Given the description of an element on the screen output the (x, y) to click on. 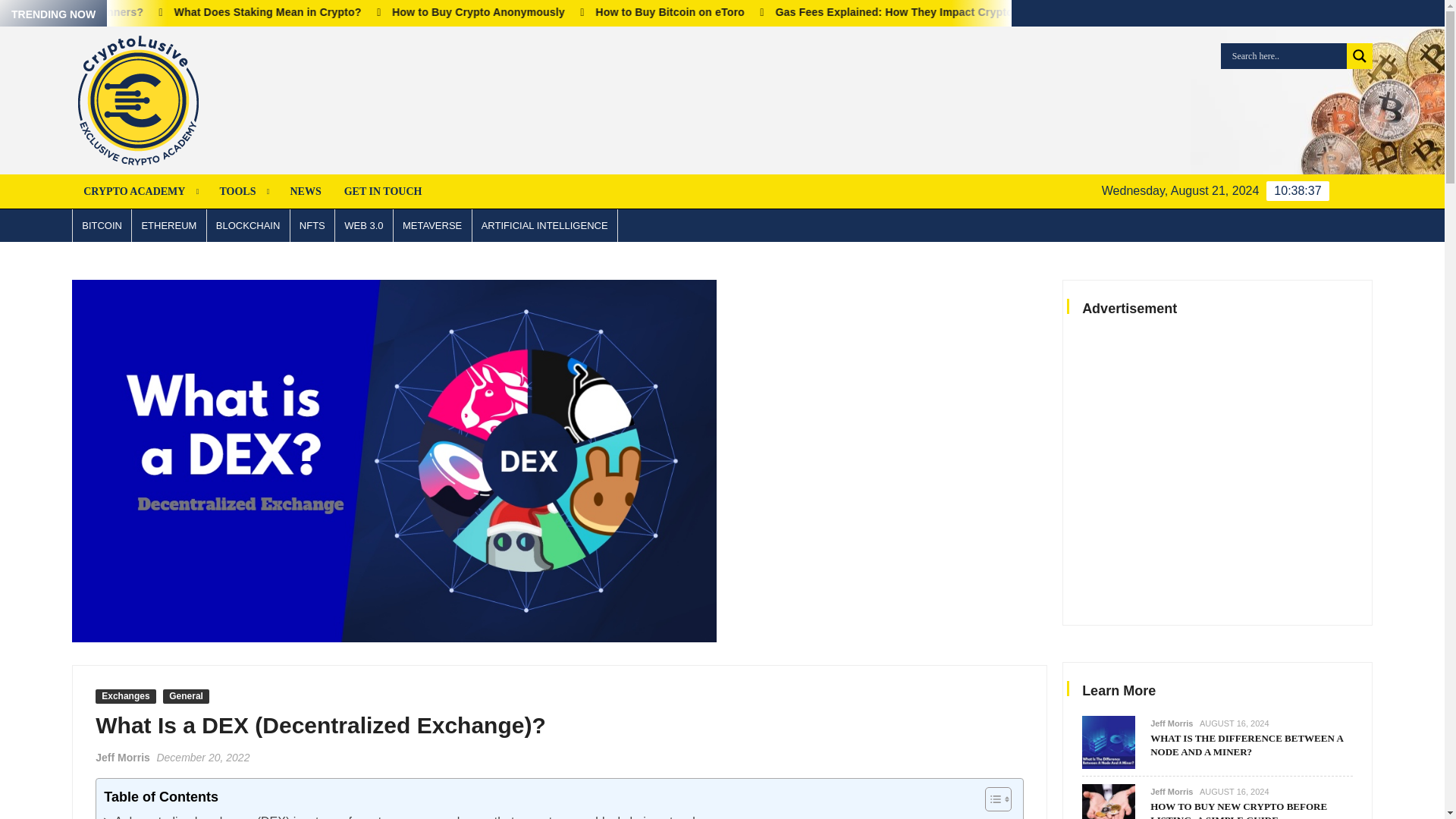
How to Buy Bitcoin on eToro (953, 11)
Which Cryptocurrency is Best for Beginners? (244, 11)
What Does Staking Mean in Crypto? (557, 11)
What is the Difference between a Node and a Miner? (50, 11)
Which Cryptocurrency is Best for Beginners? (317, 11)
How to Buy Bitcoin on eToro (880, 11)
How to Buy Crypto Anonymously (691, 11)
Gas Fees Explained: How They Impact Crypto Transactions (1137, 11)
What is the Difference between a Node and a Miner? (85, 11)
What Does Staking Mean in Crypto? (484, 11)
